Given the description of an element on the screen output the (x, y) to click on. 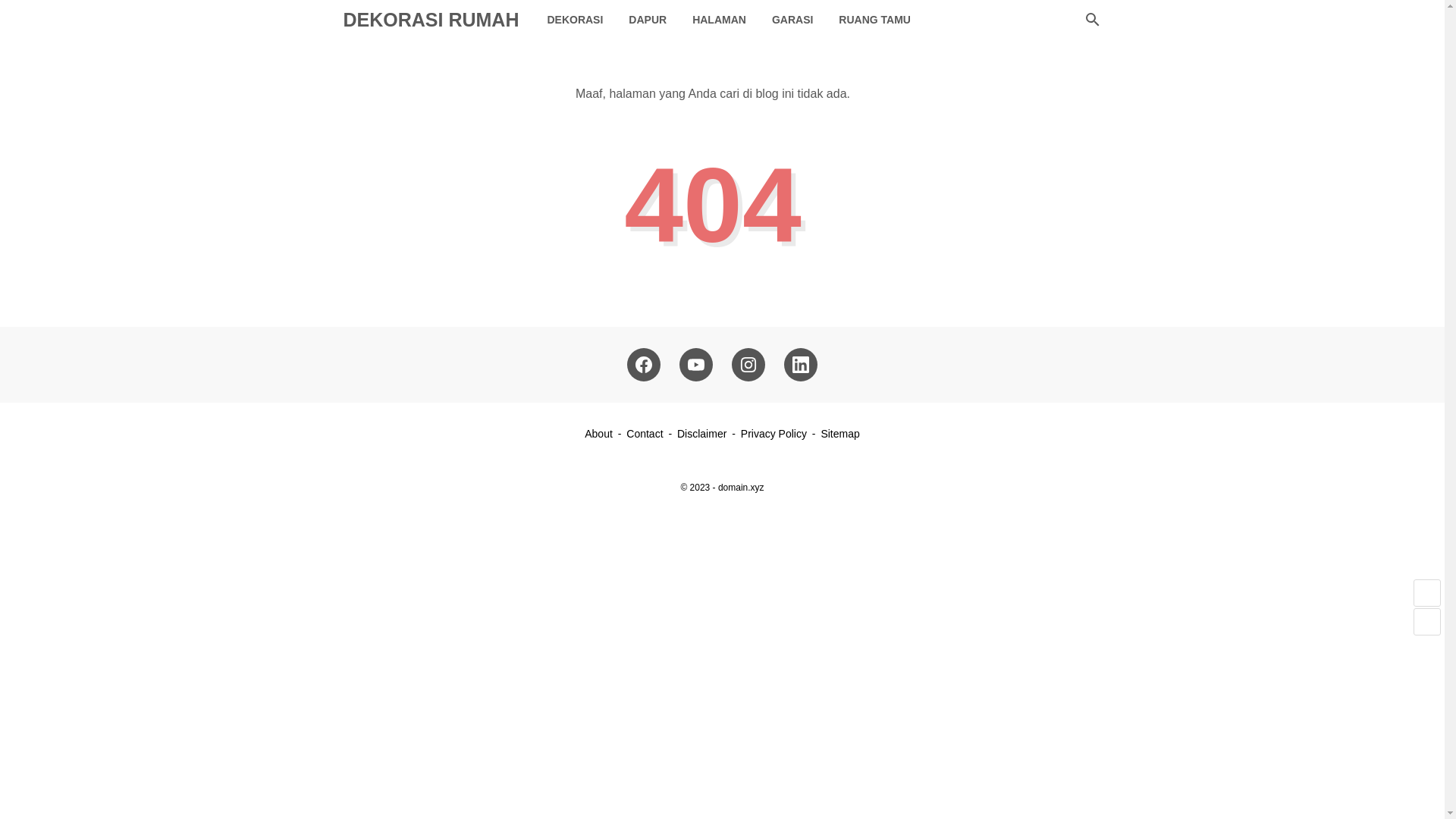
GARASI (791, 19)
About (598, 433)
Cari blog ini (1091, 19)
RUANG TAMU (874, 19)
Disclaimer (701, 433)
HALAMAN (718, 19)
Contact (644, 433)
DEKORASI RUMAH (430, 19)
DEKORASI RUMAH (430, 19)
Sitemap (840, 433)
DAPUR (647, 19)
DEKORASI (574, 19)
Privacy Policy (773, 433)
